Given the description of an element on the screen output the (x, y) to click on. 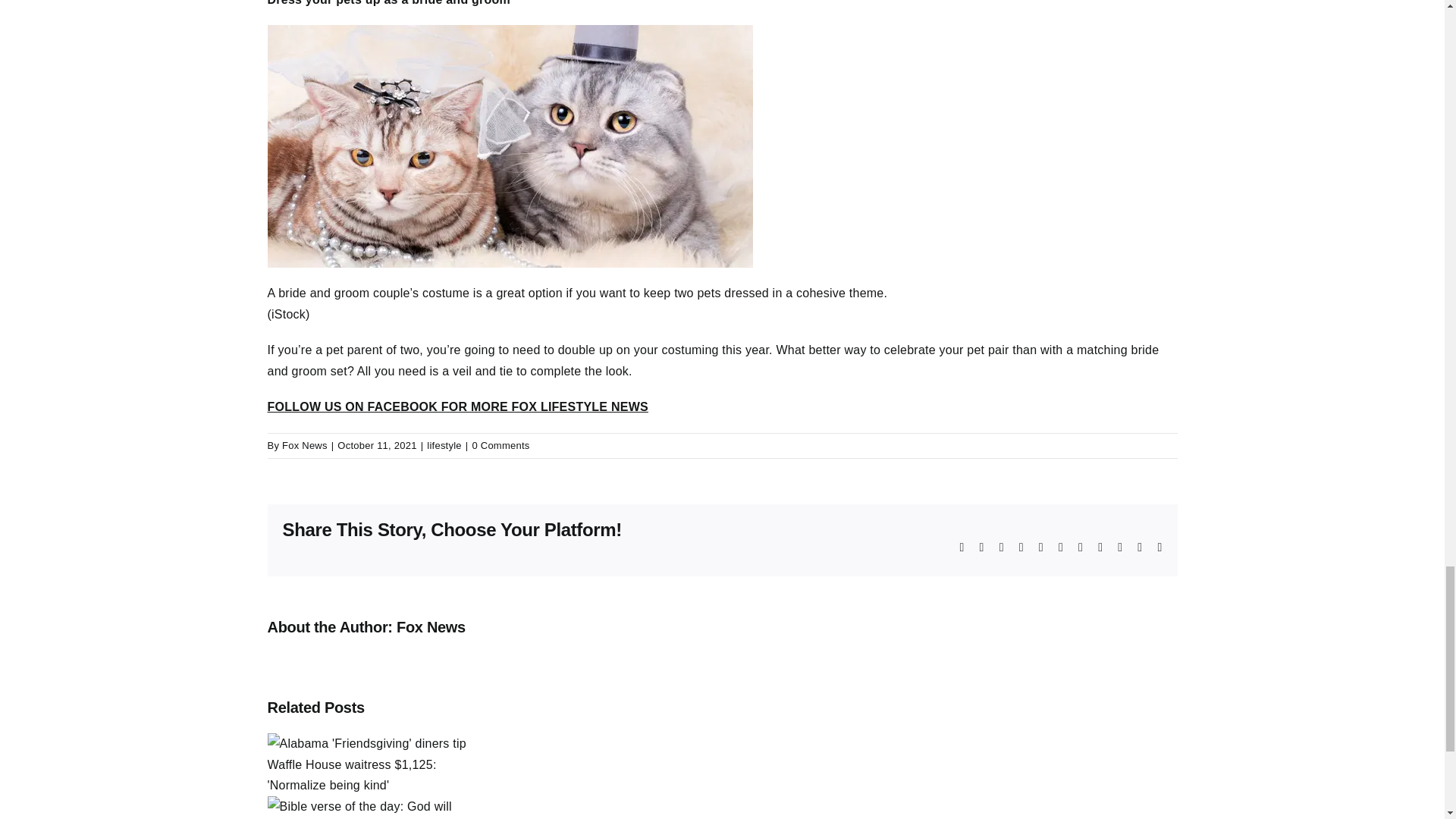
Posts by Fox News (304, 445)
lifestyle (443, 445)
Fox News (430, 627)
Fox News (304, 445)
0 Comments (500, 445)
